Given the description of an element on the screen output the (x, y) to click on. 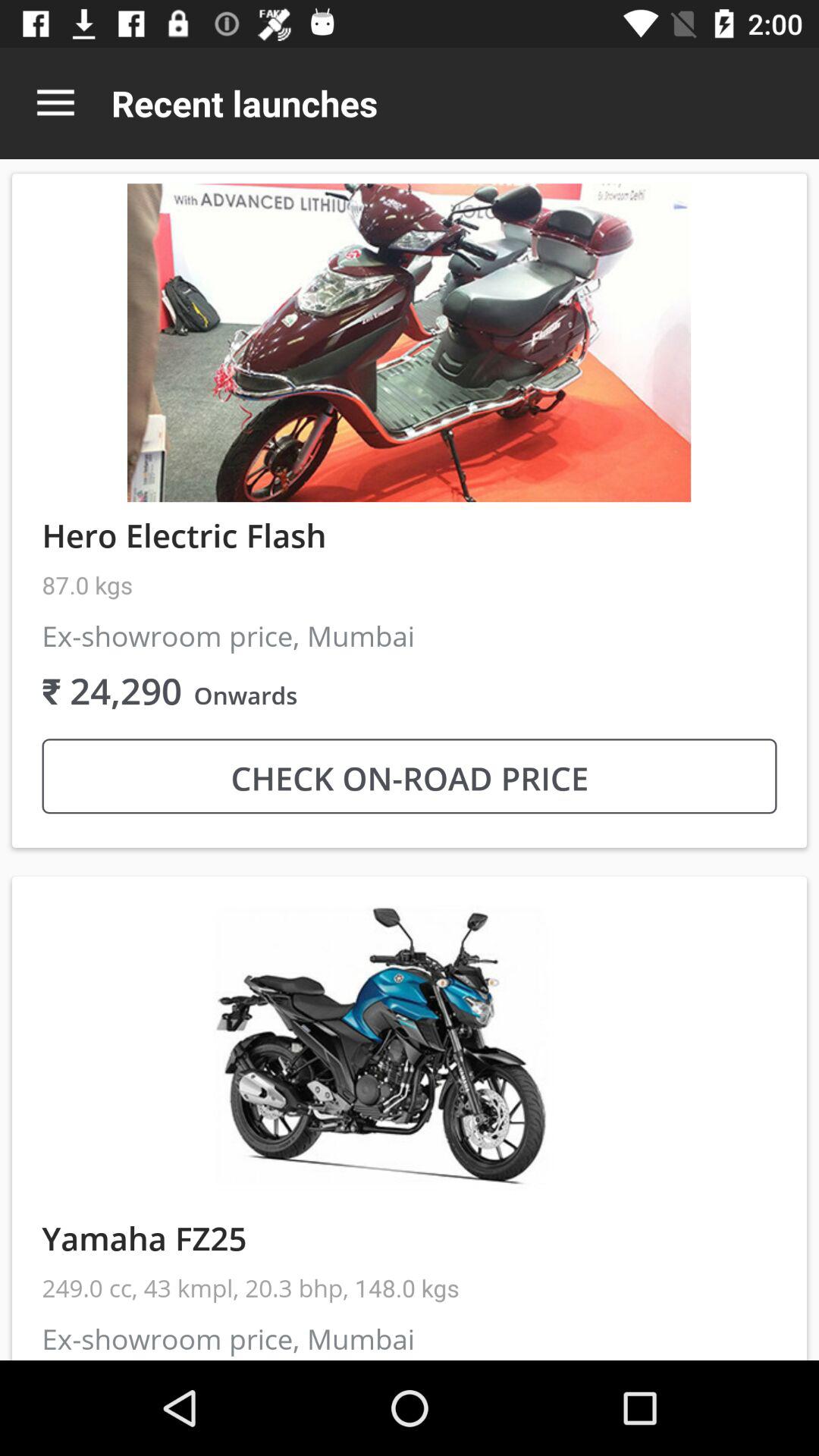
turn off icon to the left of the recent launches icon (55, 103)
